Given the description of an element on the screen output the (x, y) to click on. 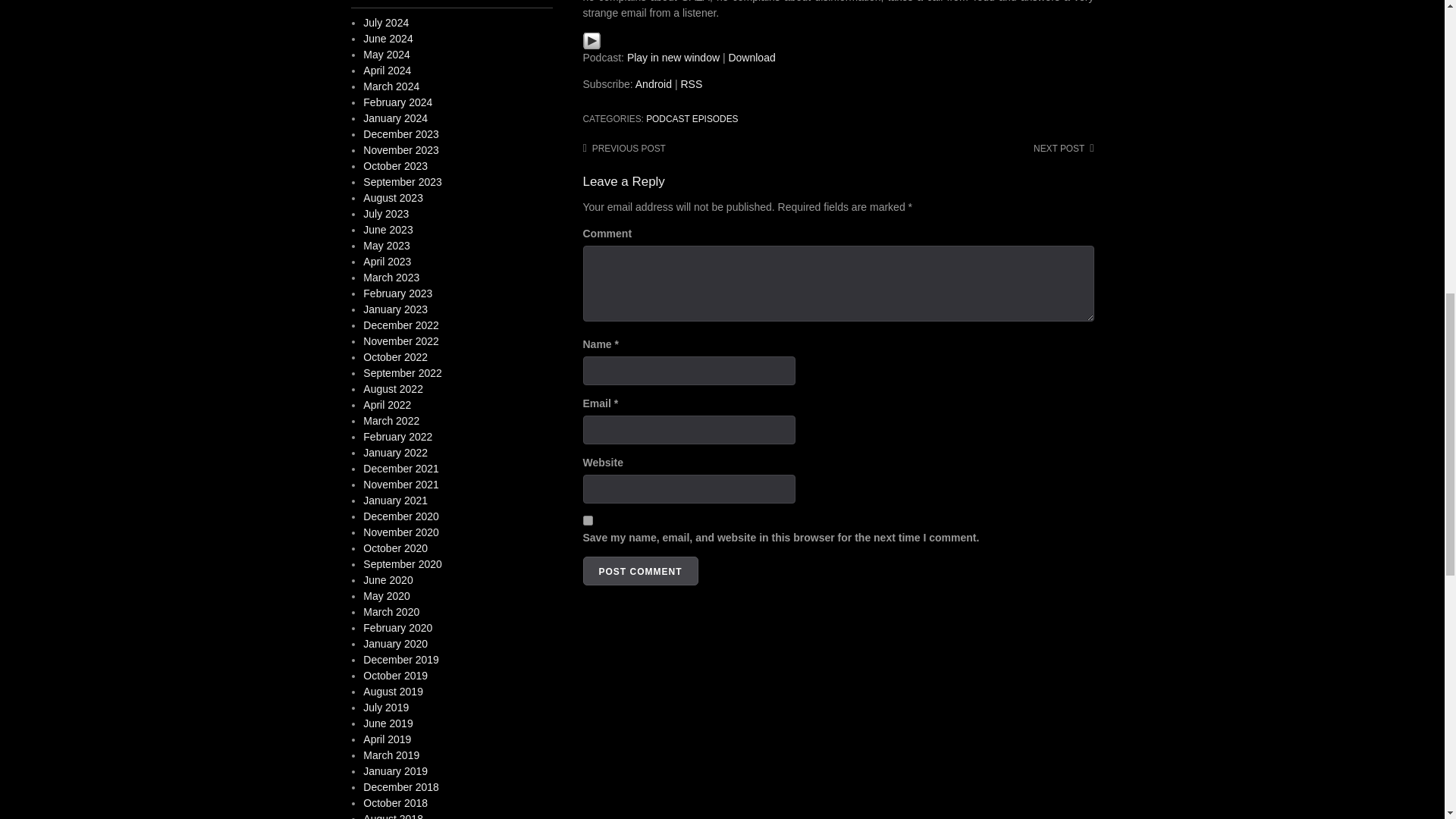
June 2023 (387, 229)
Android (652, 83)
March 2024 (390, 86)
February 2024 (397, 102)
Play (590, 40)
Play in new window (673, 57)
May 2024 (385, 54)
Download (751, 57)
April 2024 (386, 70)
Subscribe via RSS (690, 83)
